Given the description of an element on the screen output the (x, y) to click on. 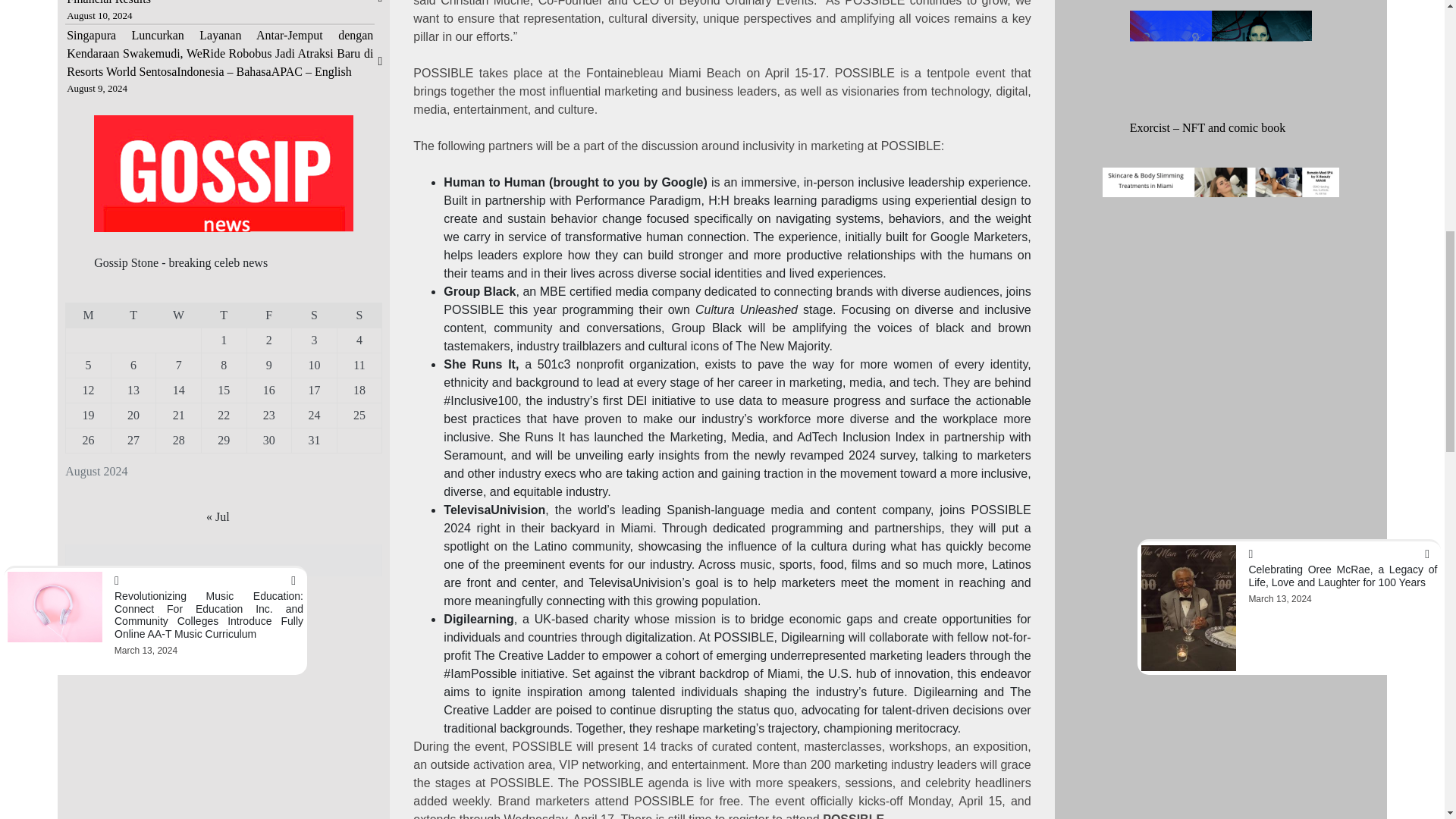
Wednesday (178, 315)
10 (313, 364)
Gossip Stone - breaking celeb news (180, 262)
Monday (88, 315)
Friday (269, 315)
Tuesday (132, 315)
Sunday (358, 315)
Saturday (314, 315)
Thursday (223, 315)
